Given the description of an element on the screen output the (x, y) to click on. 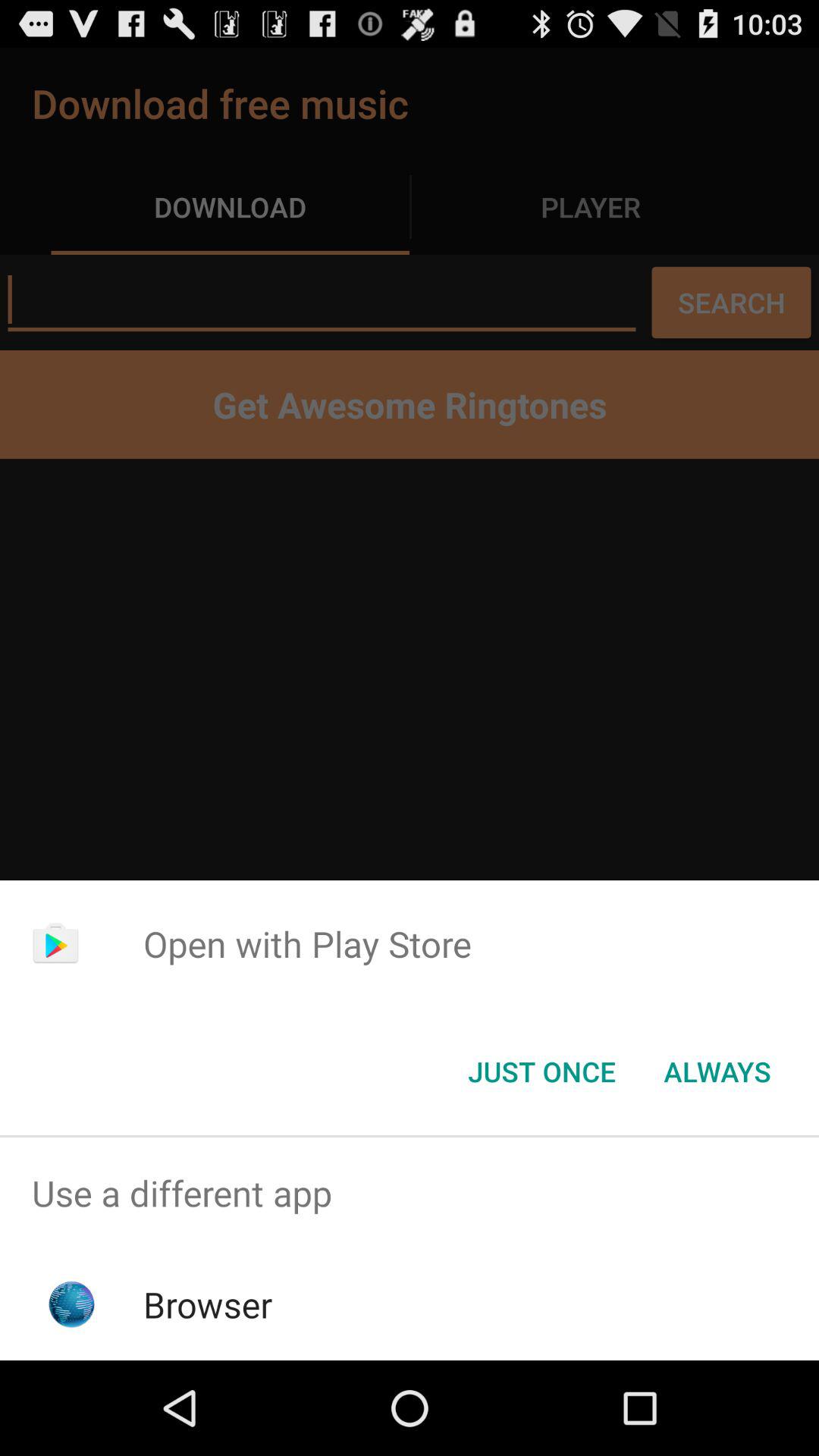
click the item next to just once icon (717, 1071)
